Given the description of an element on the screen output the (x, y) to click on. 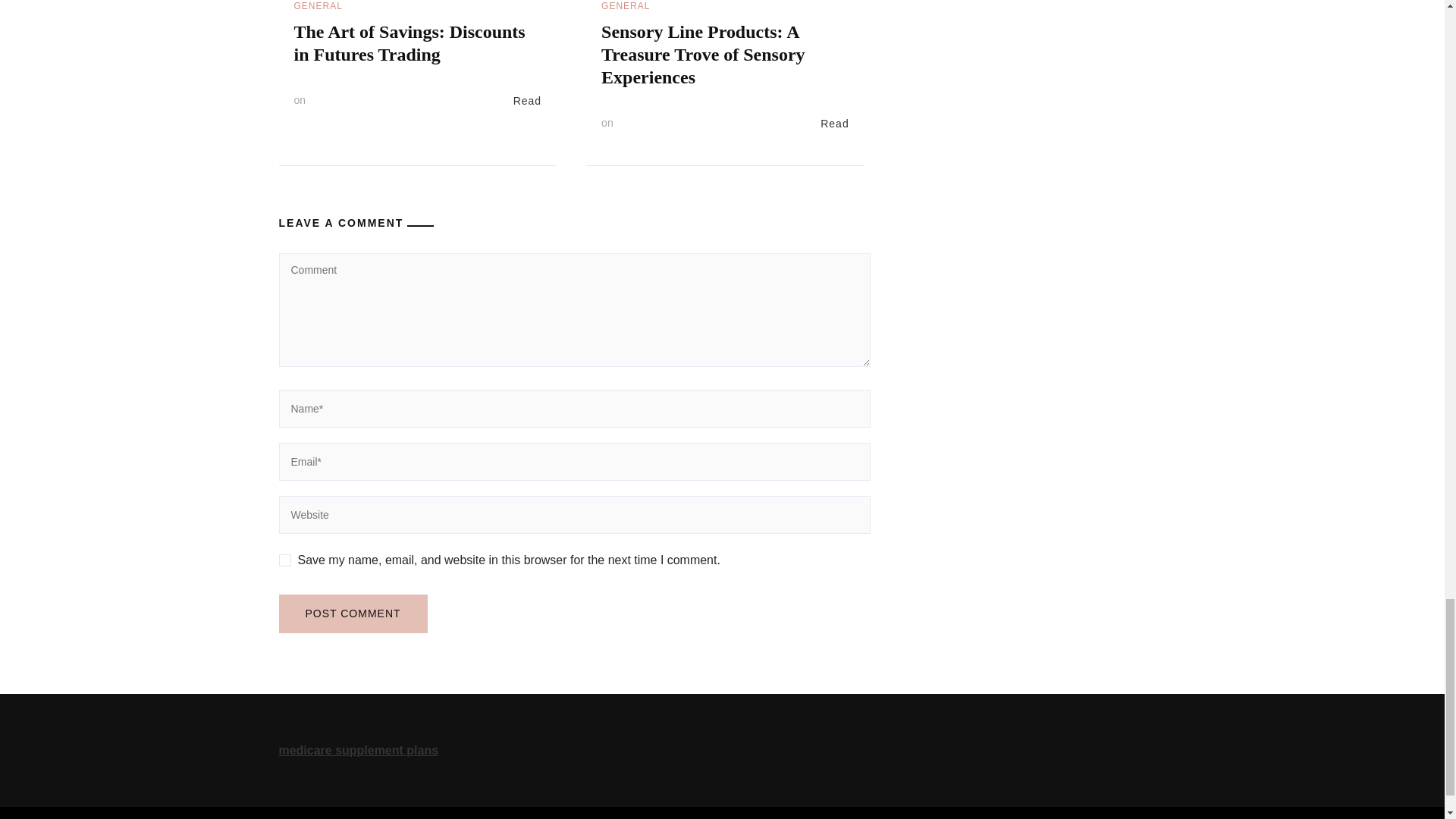
Post Comment (353, 613)
